Given the description of an element on the screen output the (x, y) to click on. 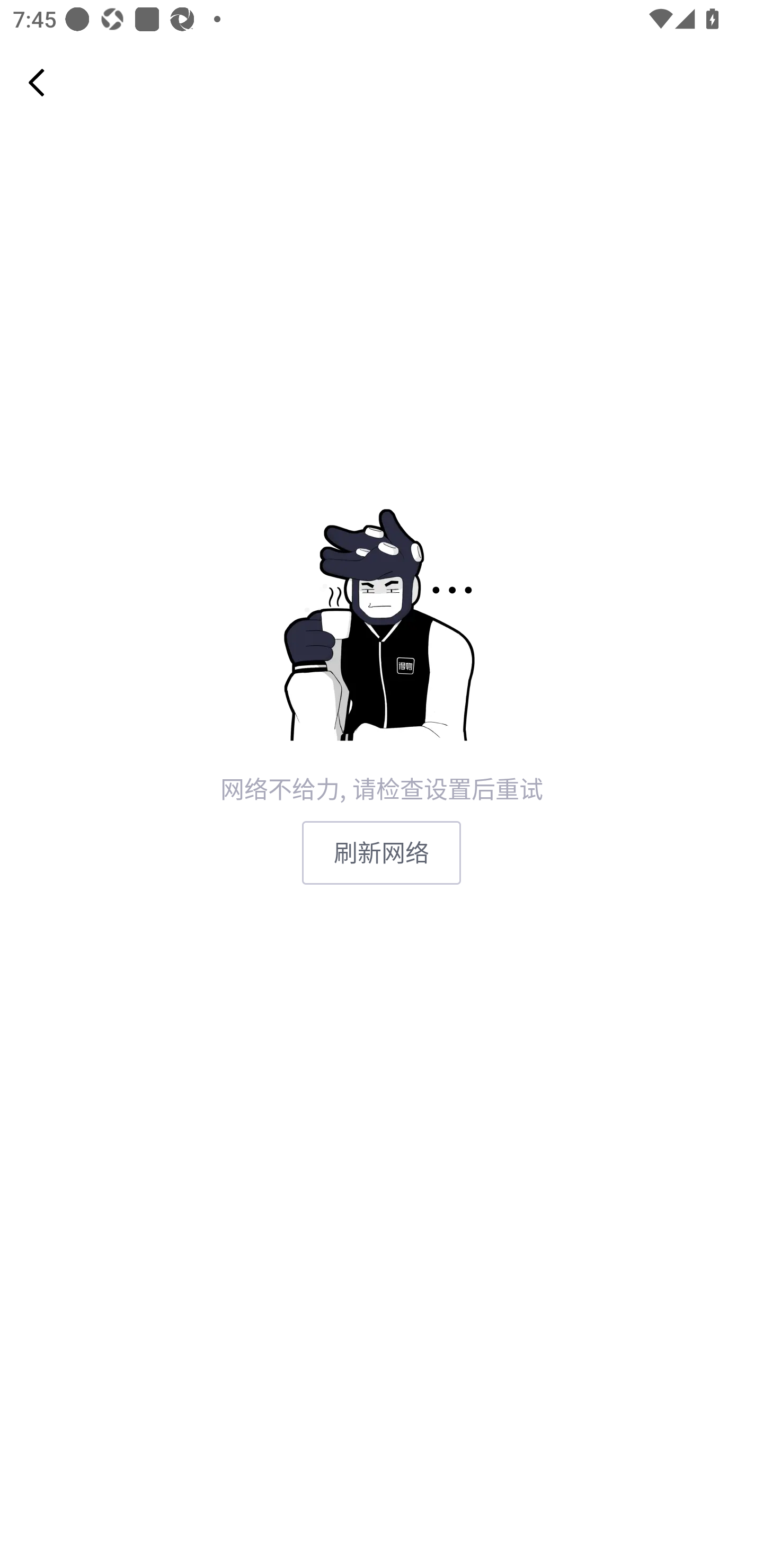
Navigate up (36, 82)
刷新网络 (381, 852)
